Given the description of an element on the screen output the (x, y) to click on. 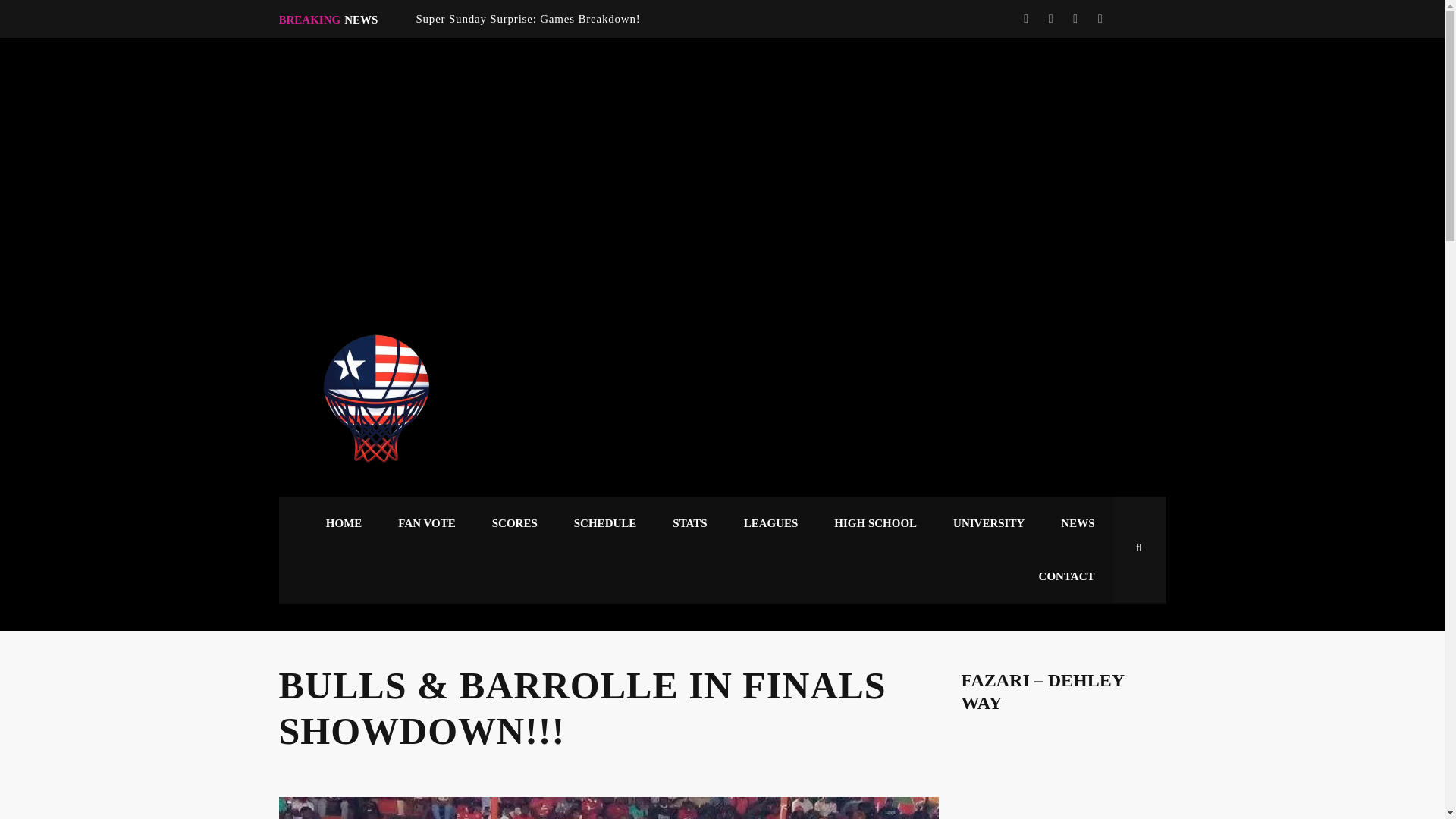
CONTACT (1066, 575)
NEWS (1077, 522)
UNIVERSITY (988, 522)
Home (373, 401)
HOME (343, 522)
SCHEDULE (605, 522)
STATS (689, 522)
Dehley Way (1063, 776)
HIGH SCHOOL (874, 522)
